Given the description of an element on the screen output the (x, y) to click on. 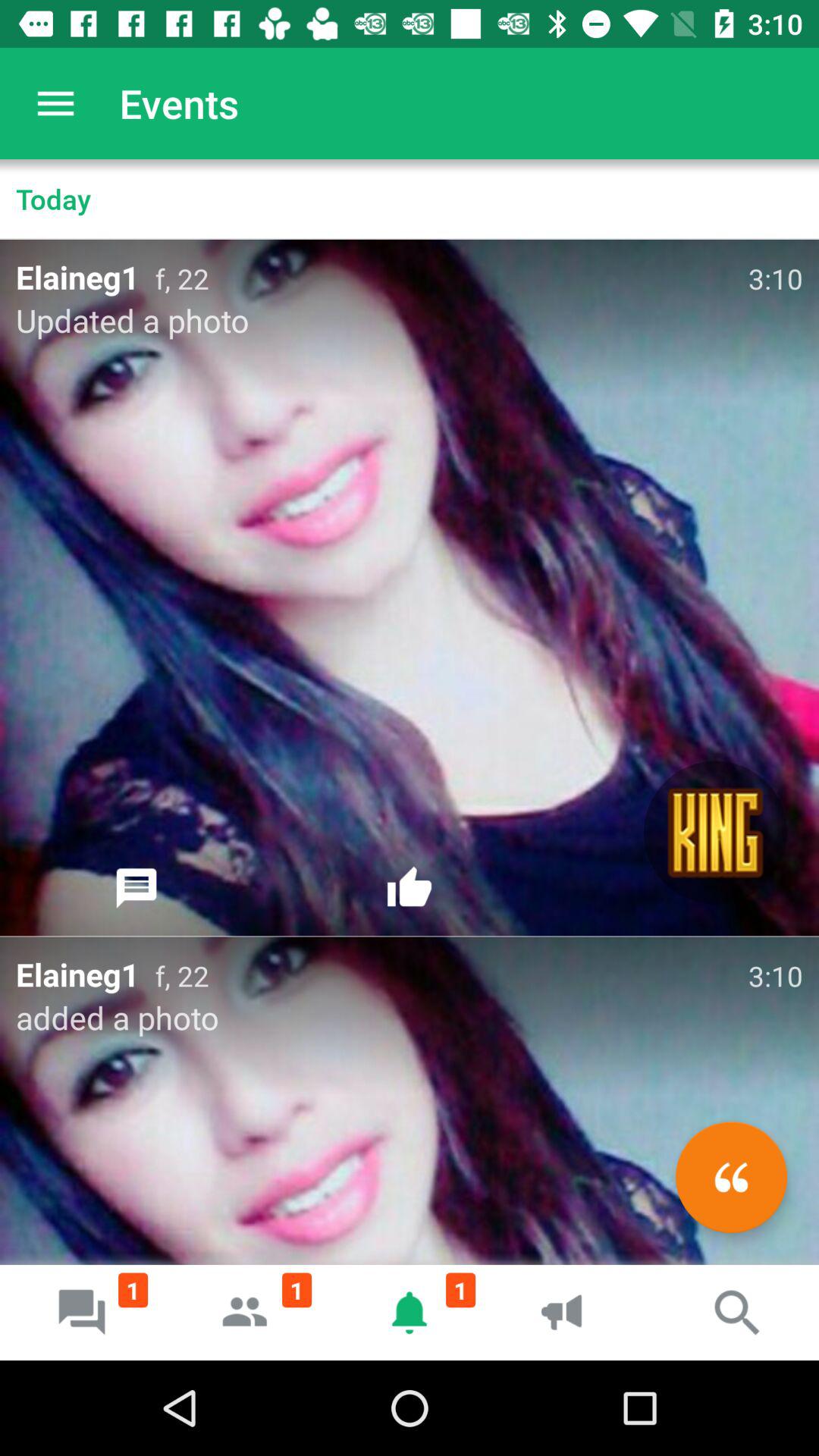
compose message (731, 1177)
